Given the description of an element on the screen output the (x, y) to click on. 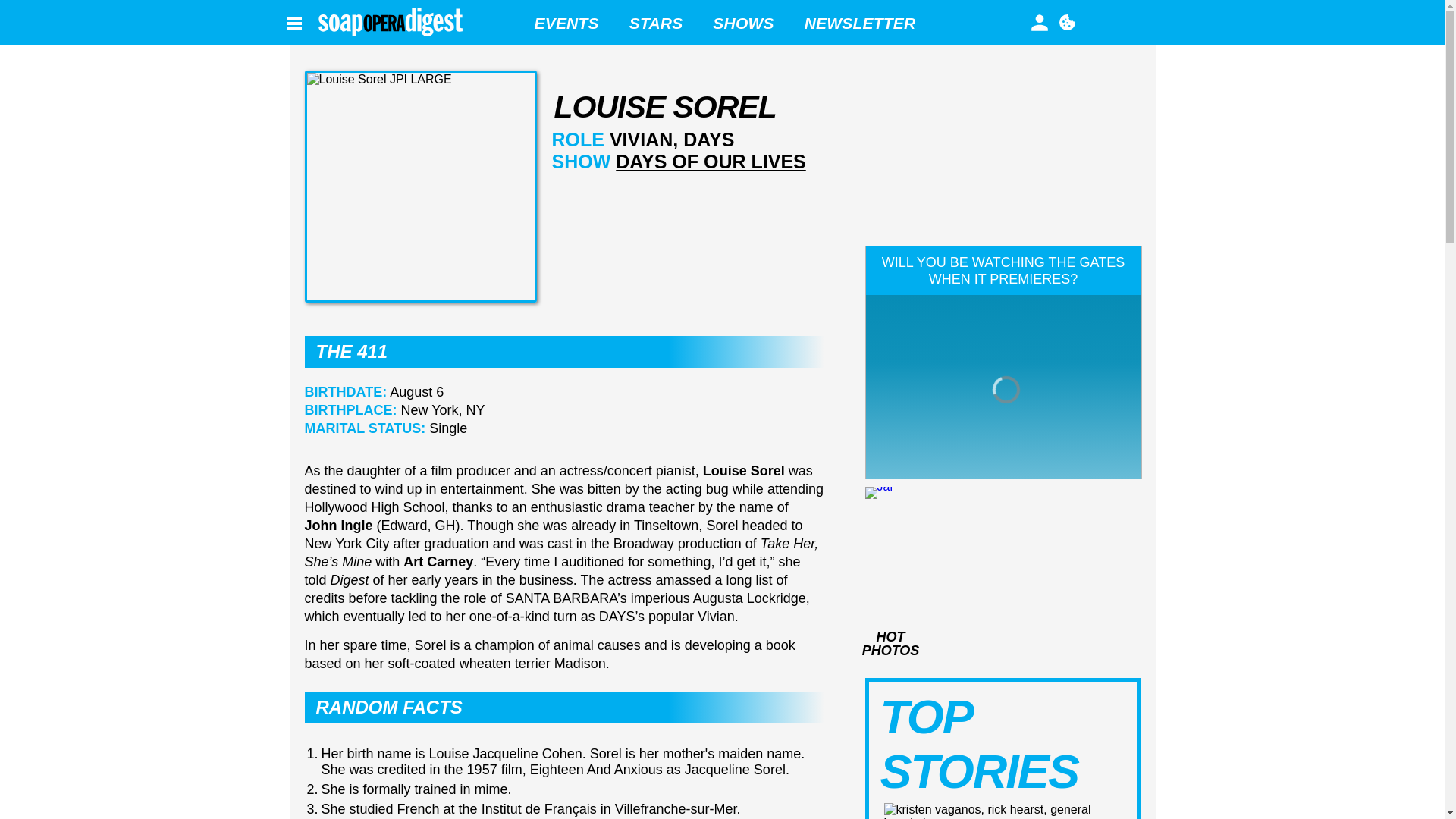
Facebook (1094, 23)
Twitter (1120, 22)
SEARCH IT! (1100, 18)
Do Not Sell (1066, 22)
